Given the description of an element on the screen output the (x, y) to click on. 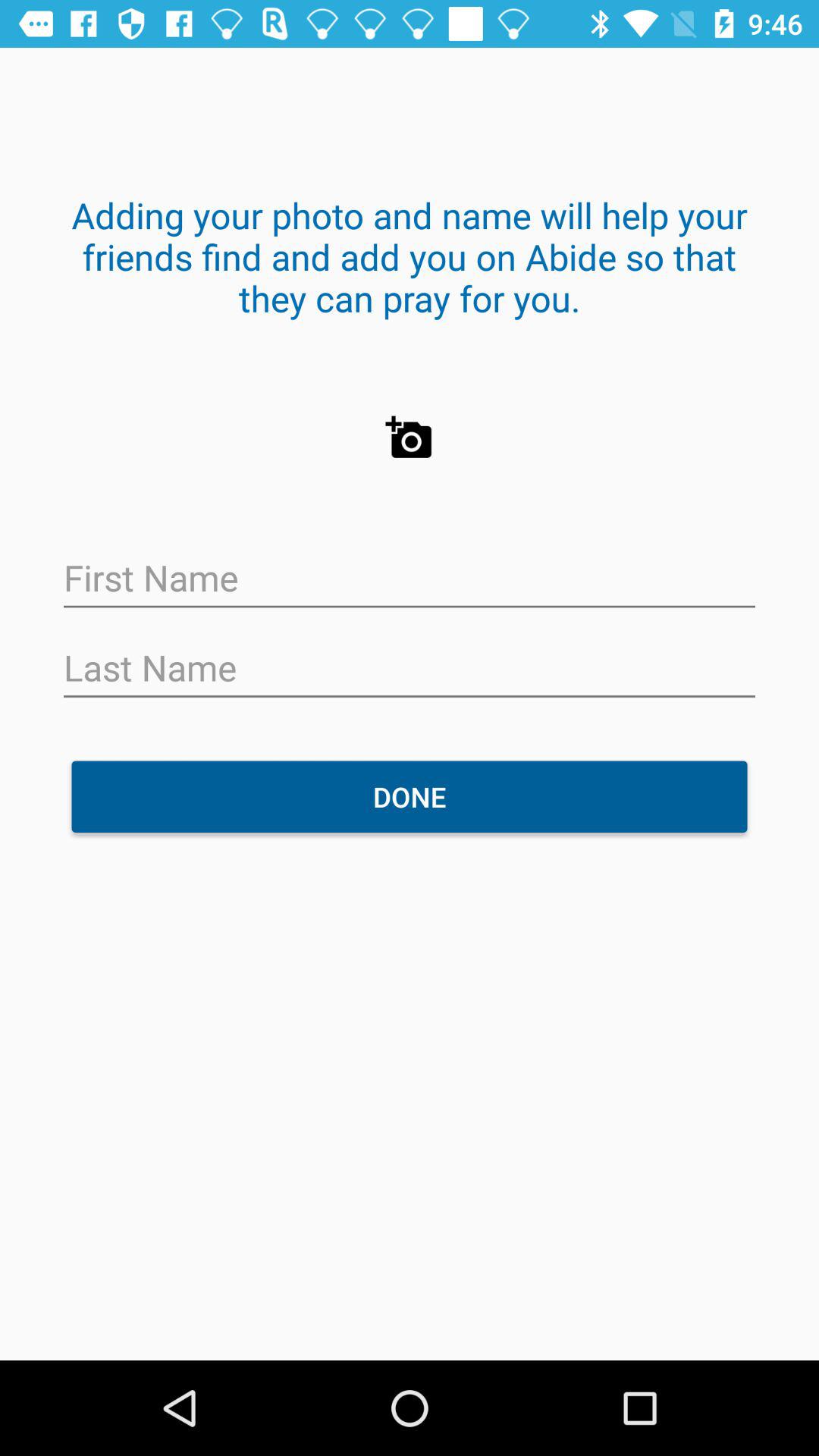
press the done icon (409, 796)
